Given the description of an element on the screen output the (x, y) to click on. 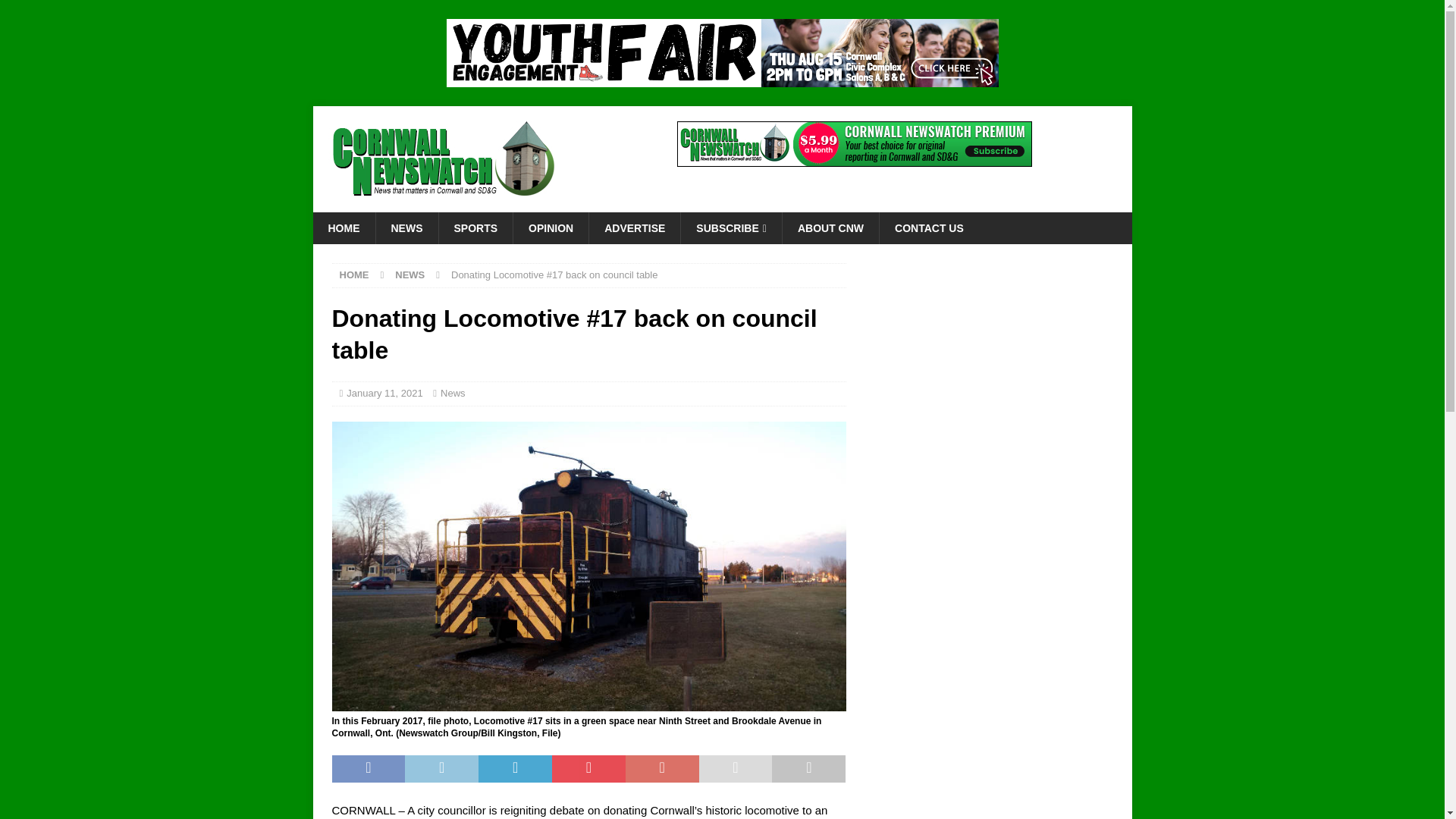
HOME (343, 228)
ADVERTISE (633, 228)
OPINION (550, 228)
HOME (354, 274)
NEWS (406, 228)
ABOUT CNW (830, 228)
News (453, 392)
SPORTS (475, 228)
January 11, 2021 (384, 392)
CONTACT US (928, 228)
SUBSCRIBE (730, 228)
NEWS (409, 274)
